Given the description of an element on the screen output the (x, y) to click on. 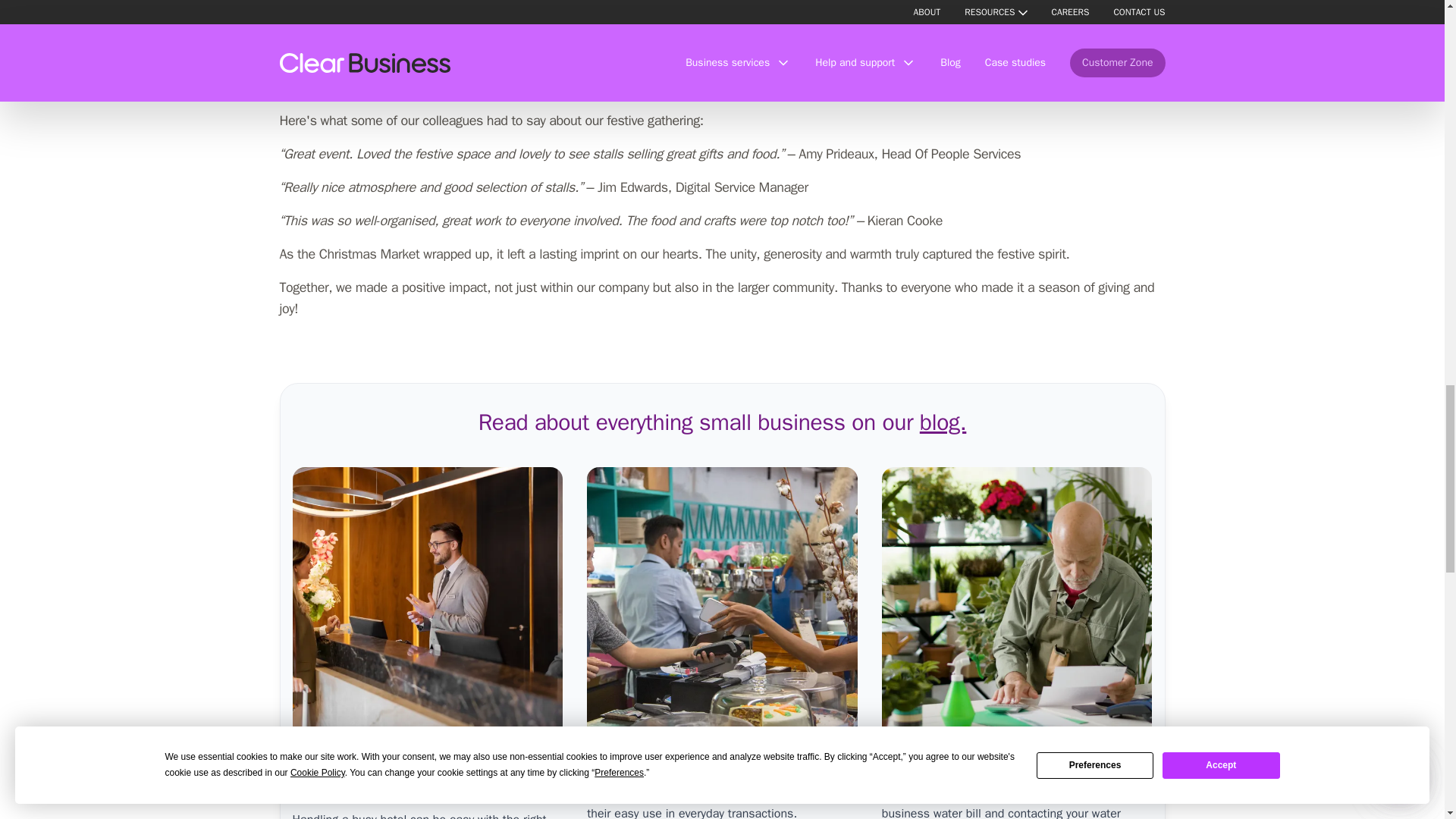
blog. (943, 421)
